Given the description of an element on the screen output the (x, y) to click on. 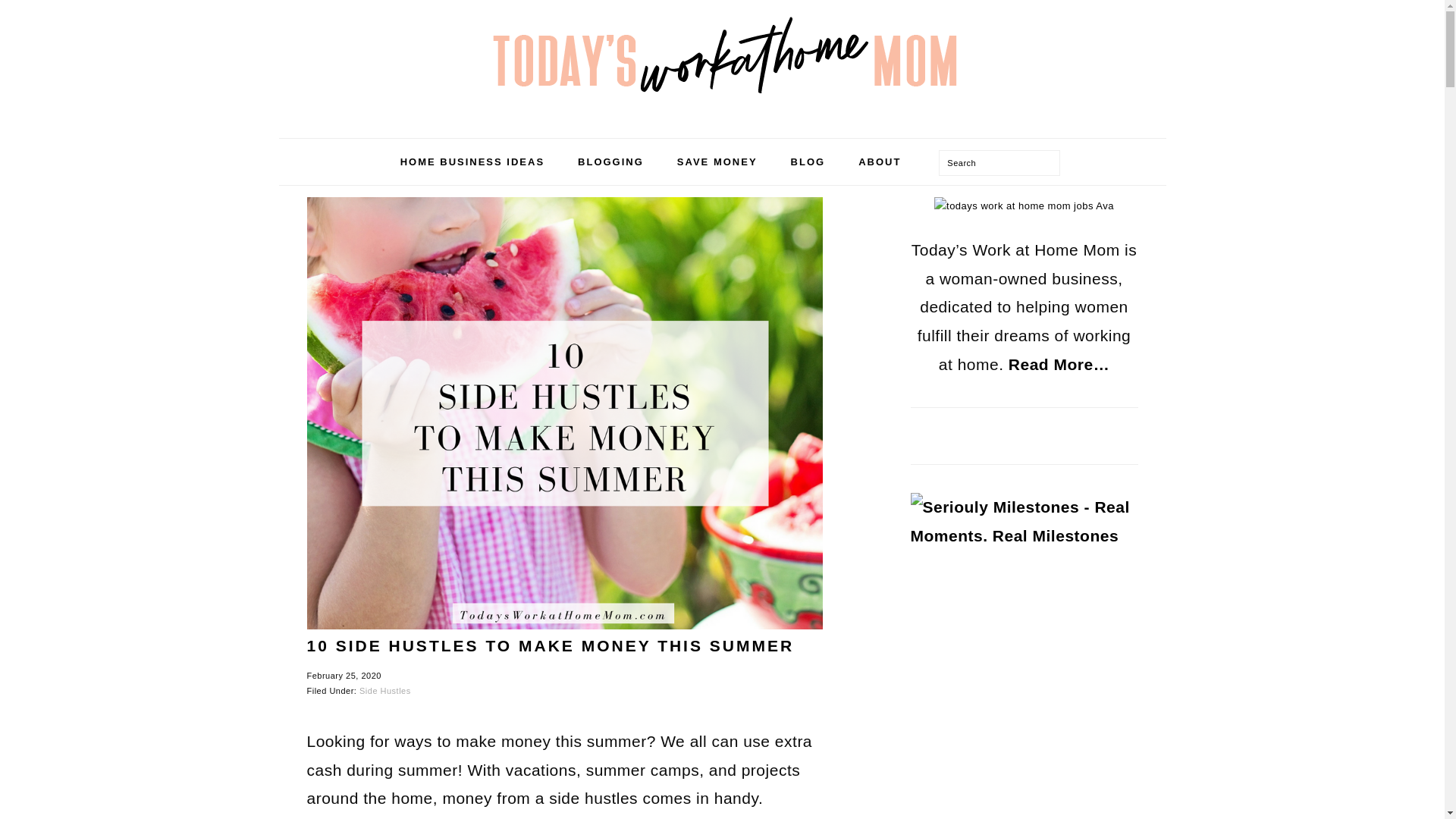
ABOUT (880, 161)
Todays Work At Home Mom (721, 59)
BLOG (807, 161)
BLOGGING (610, 161)
Todays Work At Home Mom (721, 122)
SAVE MONEY (717, 161)
